Given the description of an element on the screen output the (x, y) to click on. 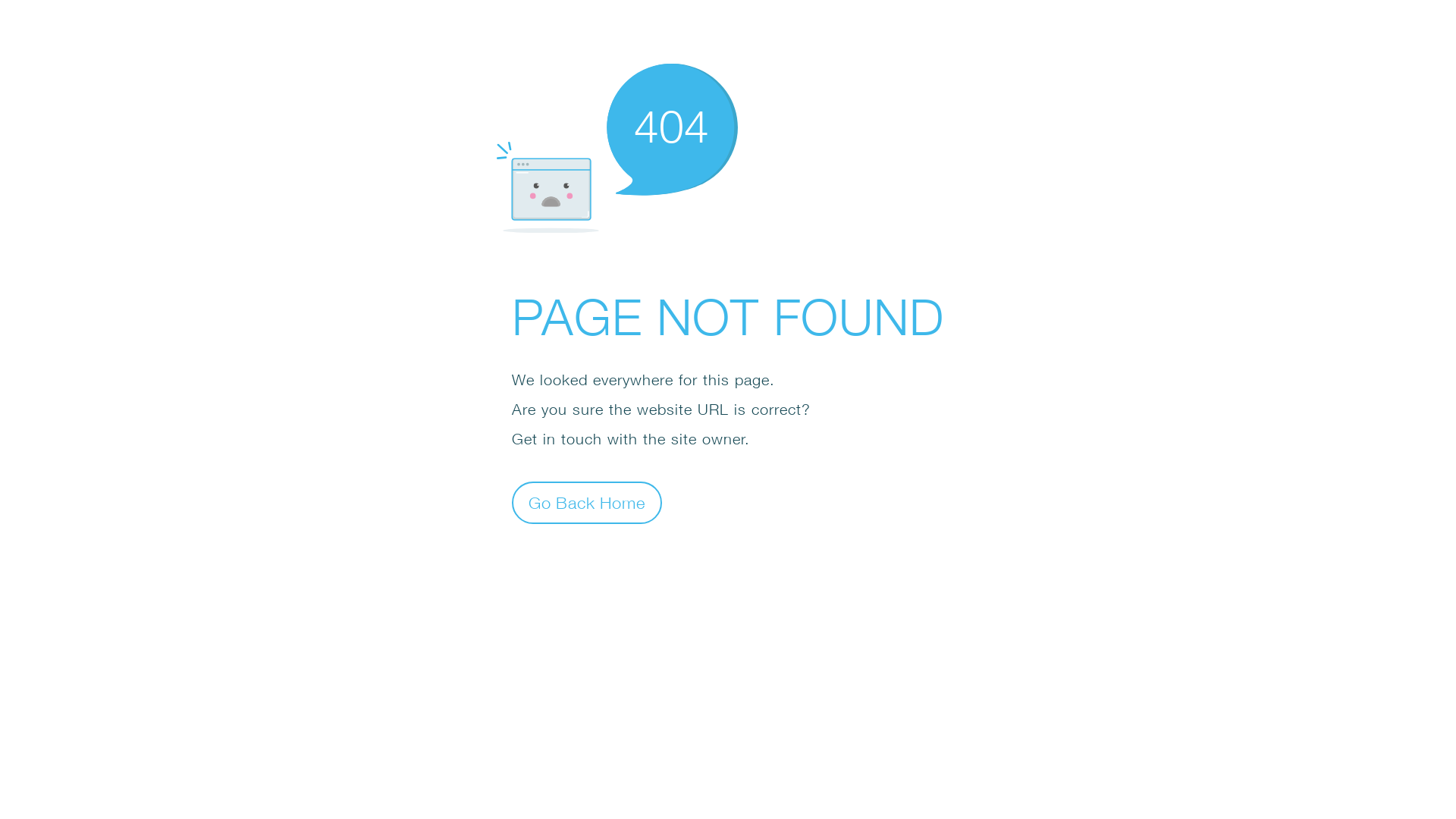
Go Back Home Element type: text (586, 502)
